Given the description of an element on the screen output the (x, y) to click on. 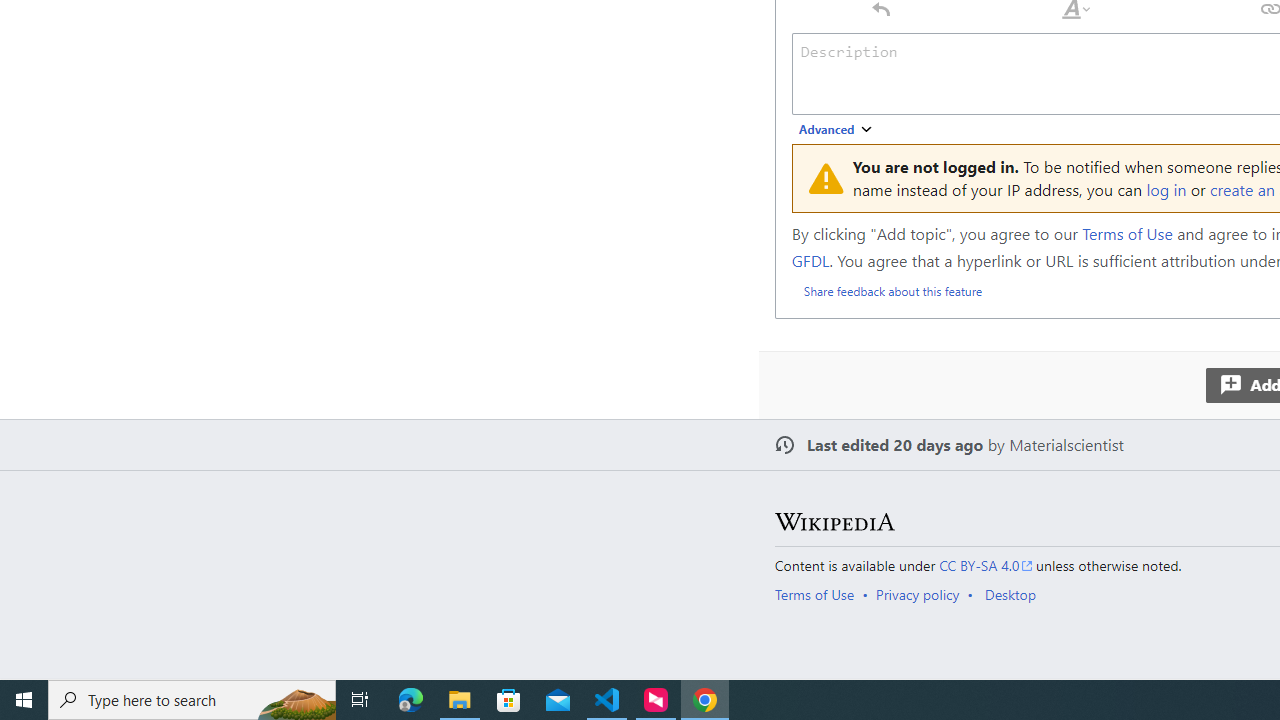
Wikipedia (834, 522)
AutomationID: footer-places-desktop-toggle (1014, 594)
GFDL (810, 259)
CC BY-SA 4.0 (985, 565)
AutomationID: footer-places-terms-use (820, 594)
Advanced (836, 129)
Privacy policy (917, 594)
AutomationID: footer-places-privacy (923, 594)
Terms of Use (814, 594)
log in (1165, 188)
Share feedback about this feature (892, 290)
Desktop (1010, 594)
